Given the description of an element on the screen output the (x, y) to click on. 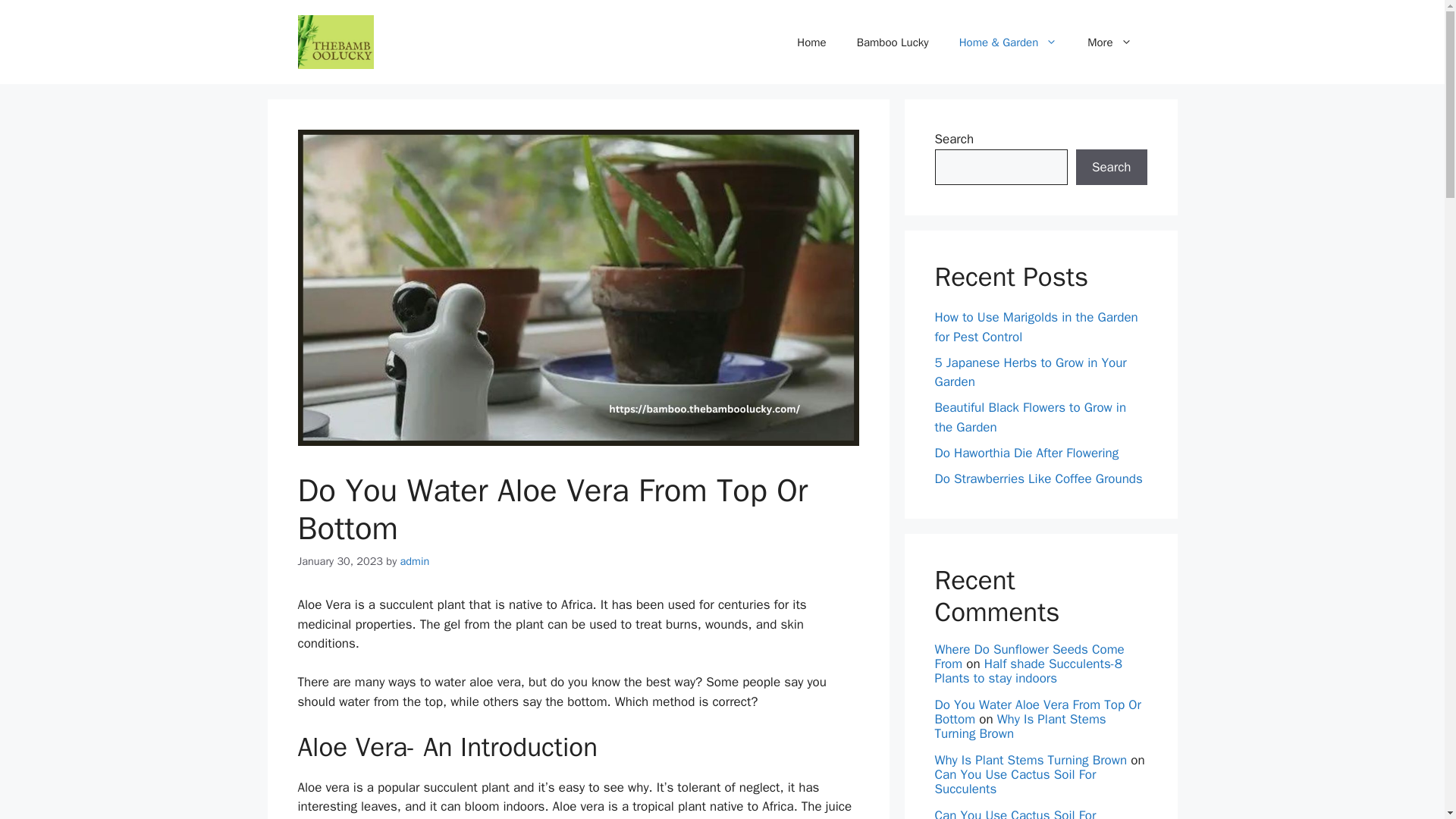
Do Haworthia Die After Flowering (1026, 453)
5 Japanese Herbs to Grow in Your Garden (1029, 372)
admin (414, 561)
Can You Use Cactus Soil For Succulents (1015, 781)
Why Is Plant Stems Turning Brown (1030, 760)
How to Use Marigolds in the Garden for Pest Control (1035, 326)
Bamboo Lucky (892, 42)
Can You Use Cactus Soil For Succulents (1015, 813)
Do You Water Aloe Vera From Top Or Bottom (1037, 711)
Why Is Plant Stems Turning Brown (1019, 726)
Do Strawberries Like Coffee Grounds (1037, 478)
Where Do Sunflower Seeds Come From (1029, 656)
More (1109, 42)
Home (811, 42)
View all posts by admin (414, 561)
